Given the description of an element on the screen output the (x, y) to click on. 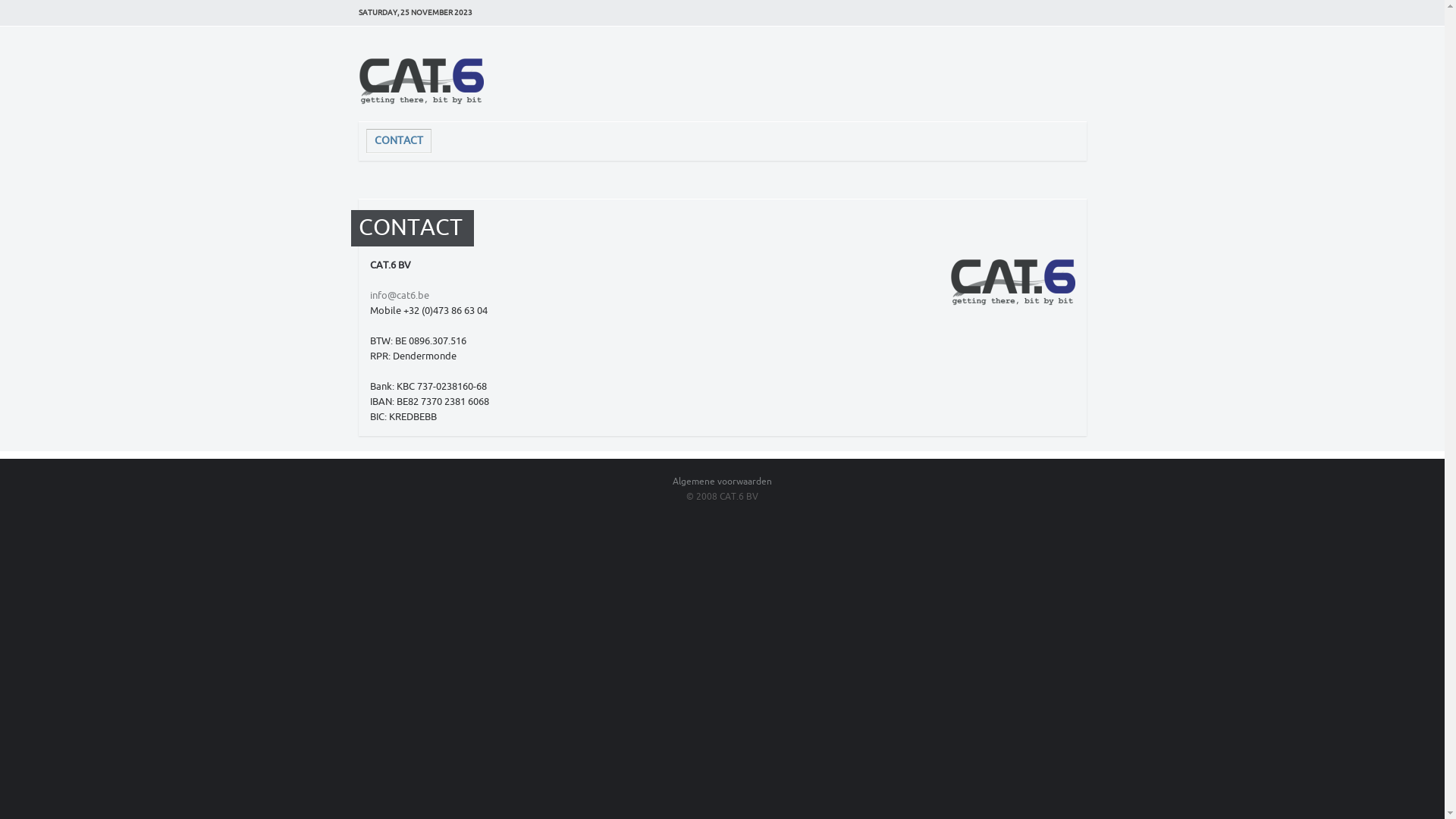
info@cat6.be Element type: text (399, 295)
CONTACT Element type: text (397, 140)
Algemene voorwaarden Element type: text (721, 481)
CONTACT Element type: text (409, 227)
